Given the description of an element on the screen output the (x, y) to click on. 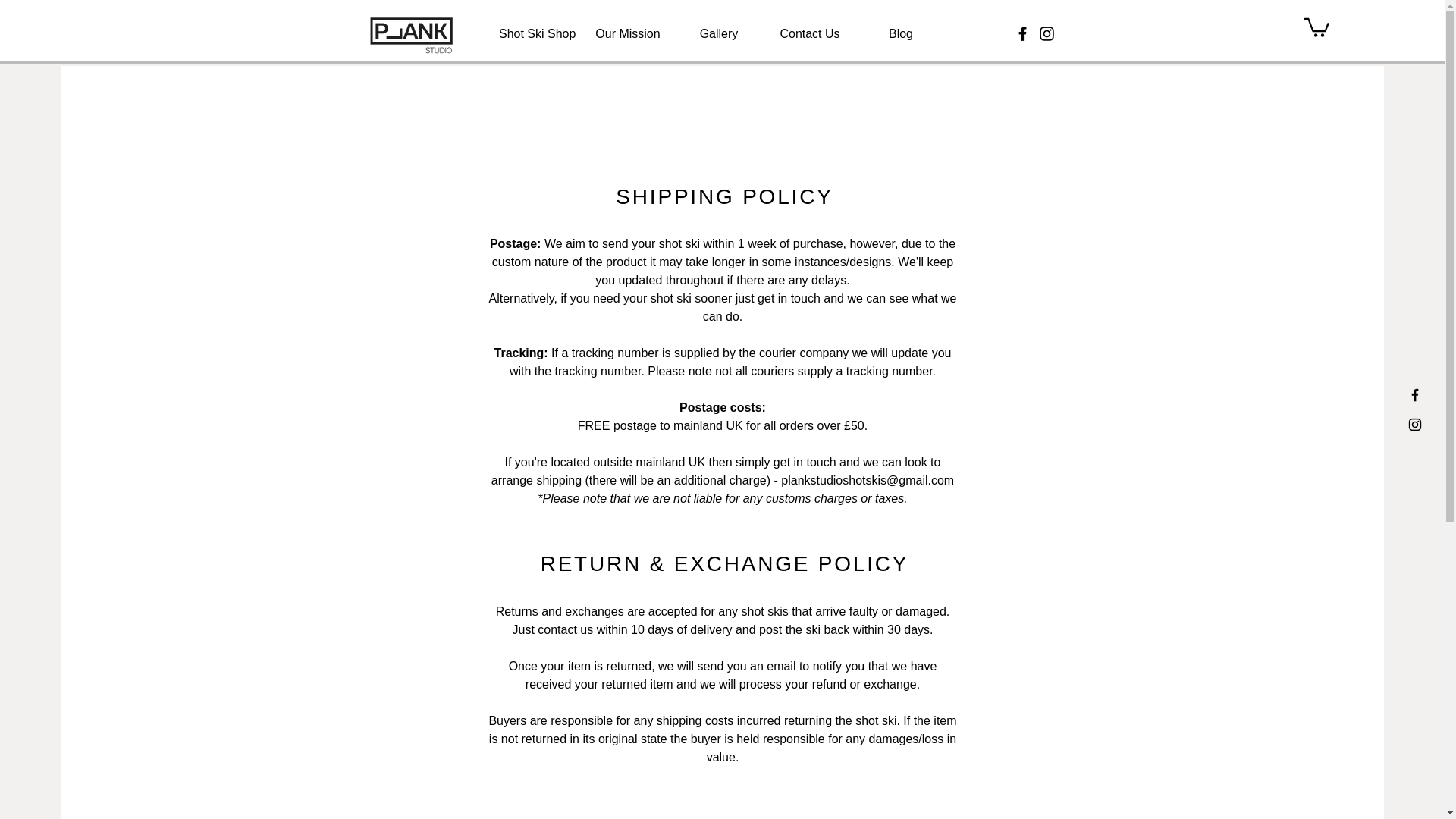
Shot Ski Shop (537, 34)
Our Mission (627, 34)
Contact Us (810, 34)
Blog (901, 34)
Plank Studio shot skis (410, 33)
Gallery (718, 34)
